Given the description of an element on the screen output the (x, y) to click on. 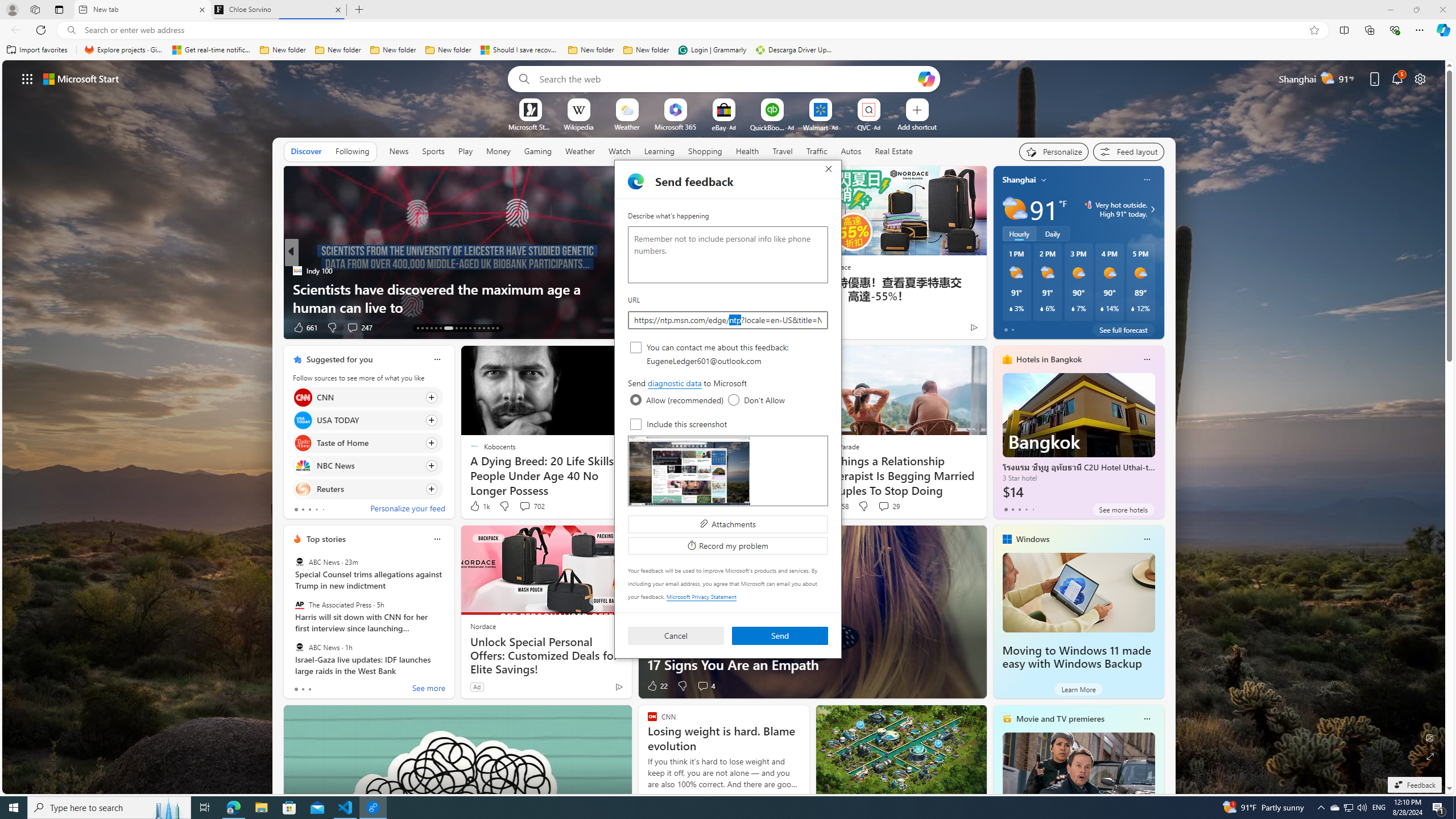
Click to follow source Taste of Home (367, 442)
The Associated Press (299, 604)
tab-1 (302, 689)
Record my problem (727, 545)
Microsoft Store (289, 807)
Microsoft start (81, 78)
Class: weather-arrow-glyph (1152, 208)
View comments 58 Comment (6, 327)
Wikipedia (578, 126)
Health (746, 151)
Autos (851, 151)
